Given the description of an element on the screen output the (x, y) to click on. 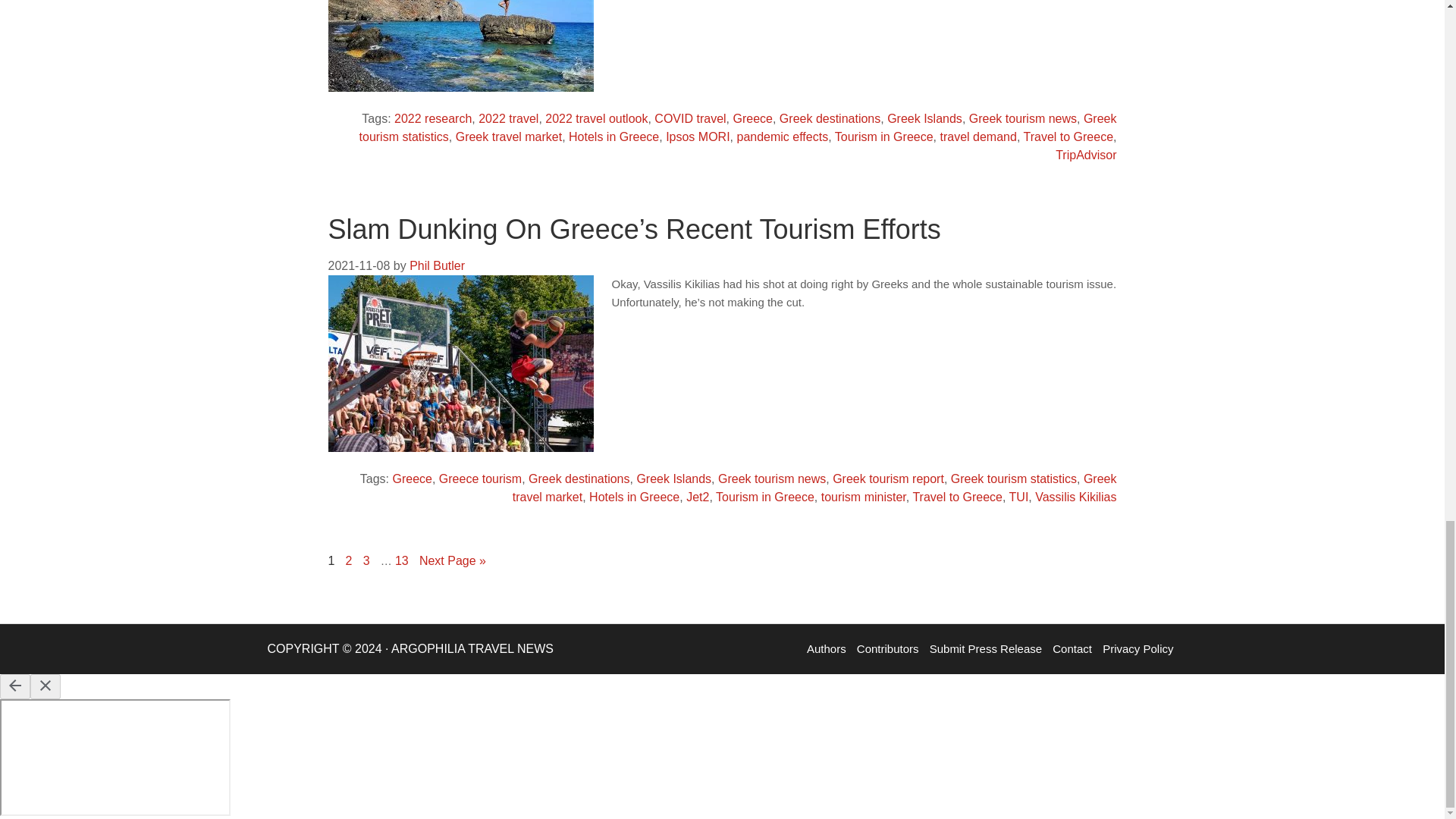
Authors (826, 648)
